Given the description of an element on the screen output the (x, y) to click on. 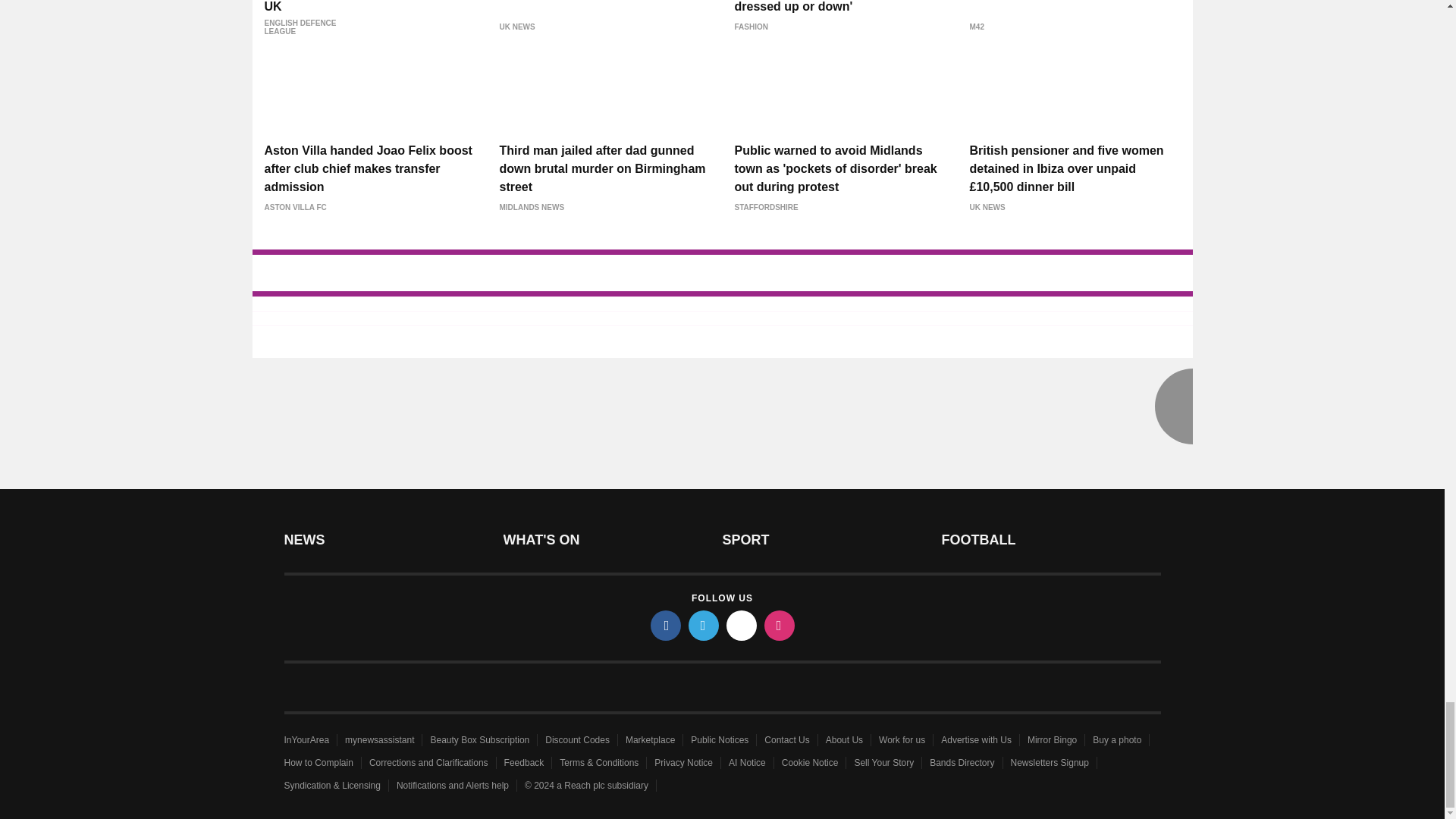
instagram (779, 625)
tiktok (741, 625)
twitter (703, 625)
facebook (665, 625)
